Given the description of an element on the screen output the (x, y) to click on. 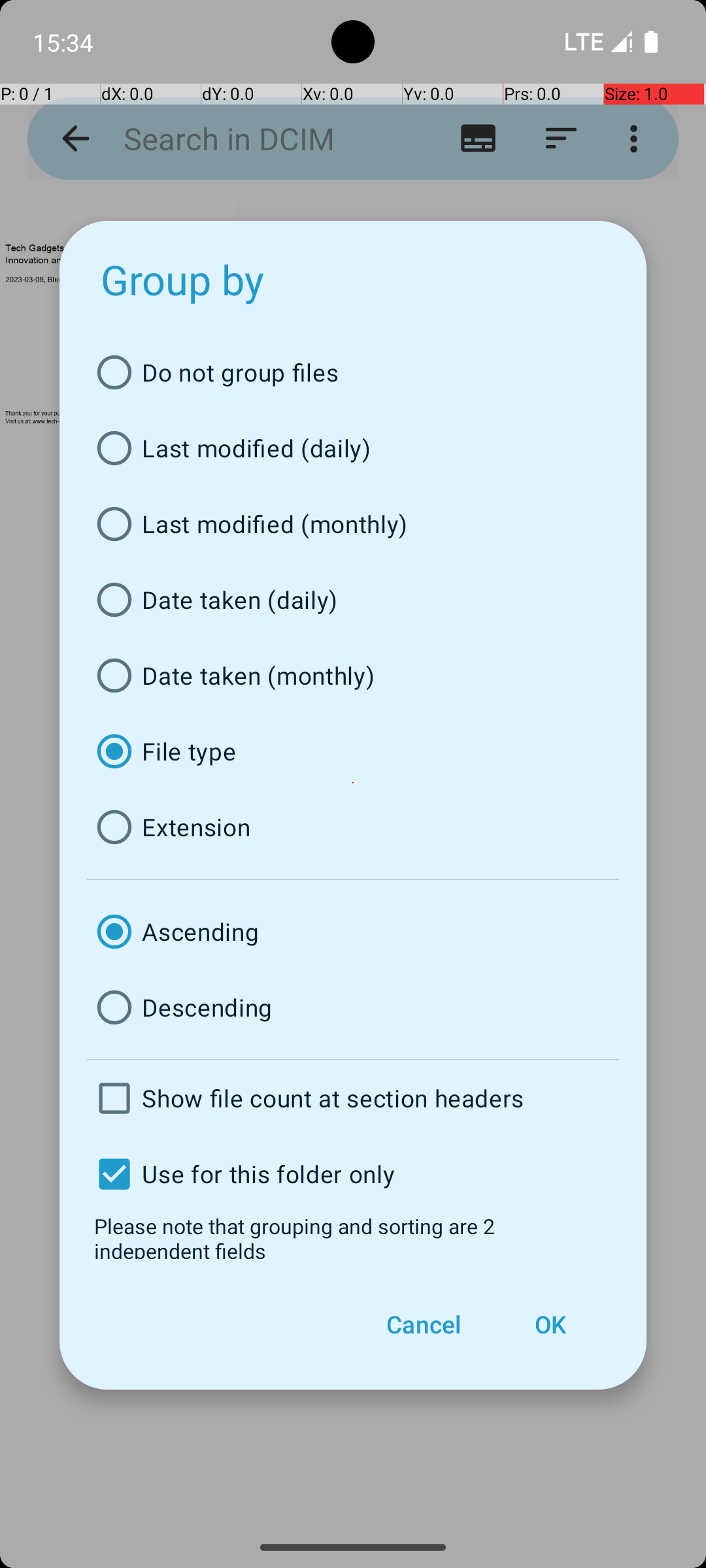
Group by Element type: android.widget.TextView (182, 279)
Show file count at section headers Element type: android.widget.CheckBox (352, 1098)
Use for this folder only Element type: android.widget.CheckBox (352, 1173)
Please note that grouping and sorting are 2 independent fields Element type: android.widget.TextView (352, 1234)
Do not group files Element type: android.widget.RadioButton (352, 372)
Last modified (daily) Element type: android.widget.RadioButton (352, 448)
Last modified (monthly) Element type: android.widget.RadioButton (352, 523)
Date taken (daily) Element type: android.widget.RadioButton (352, 599)
Date taken (monthly) Element type: android.widget.RadioButton (352, 675)
File type Element type: android.widget.RadioButton (352, 751)
Extension Element type: android.widget.RadioButton (352, 827)
Ascending Element type: android.widget.RadioButton (352, 931)
Descending Element type: android.widget.RadioButton (352, 1007)
